Given the description of an element on the screen output the (x, y) to click on. 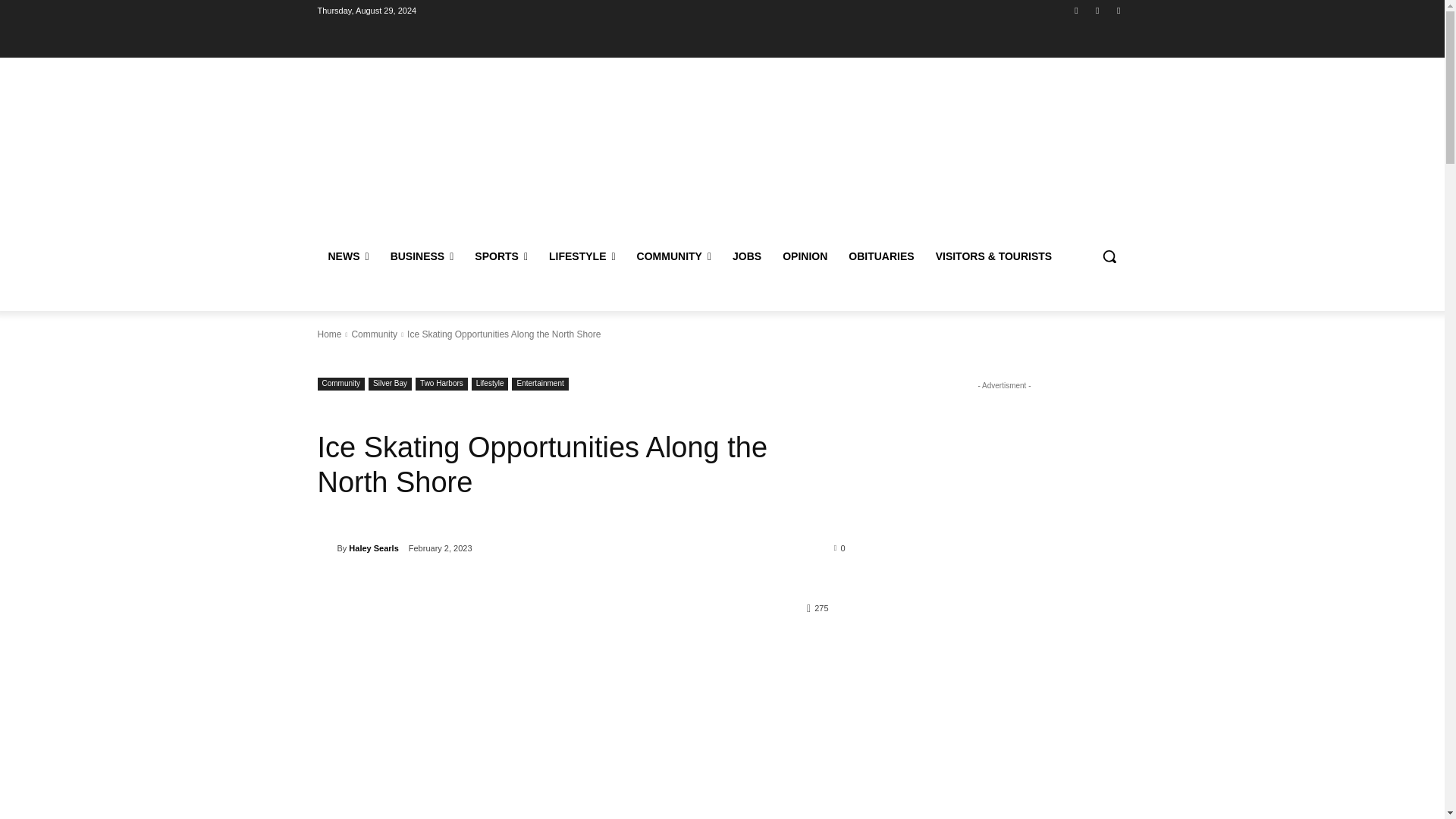
View all posts in Community (373, 334)
Facebook (1075, 9)
Instagram (1097, 9)
Twitter (1117, 9)
Haley Searls (326, 548)
NEWS (347, 256)
